Given the description of an element on the screen output the (x, y) to click on. 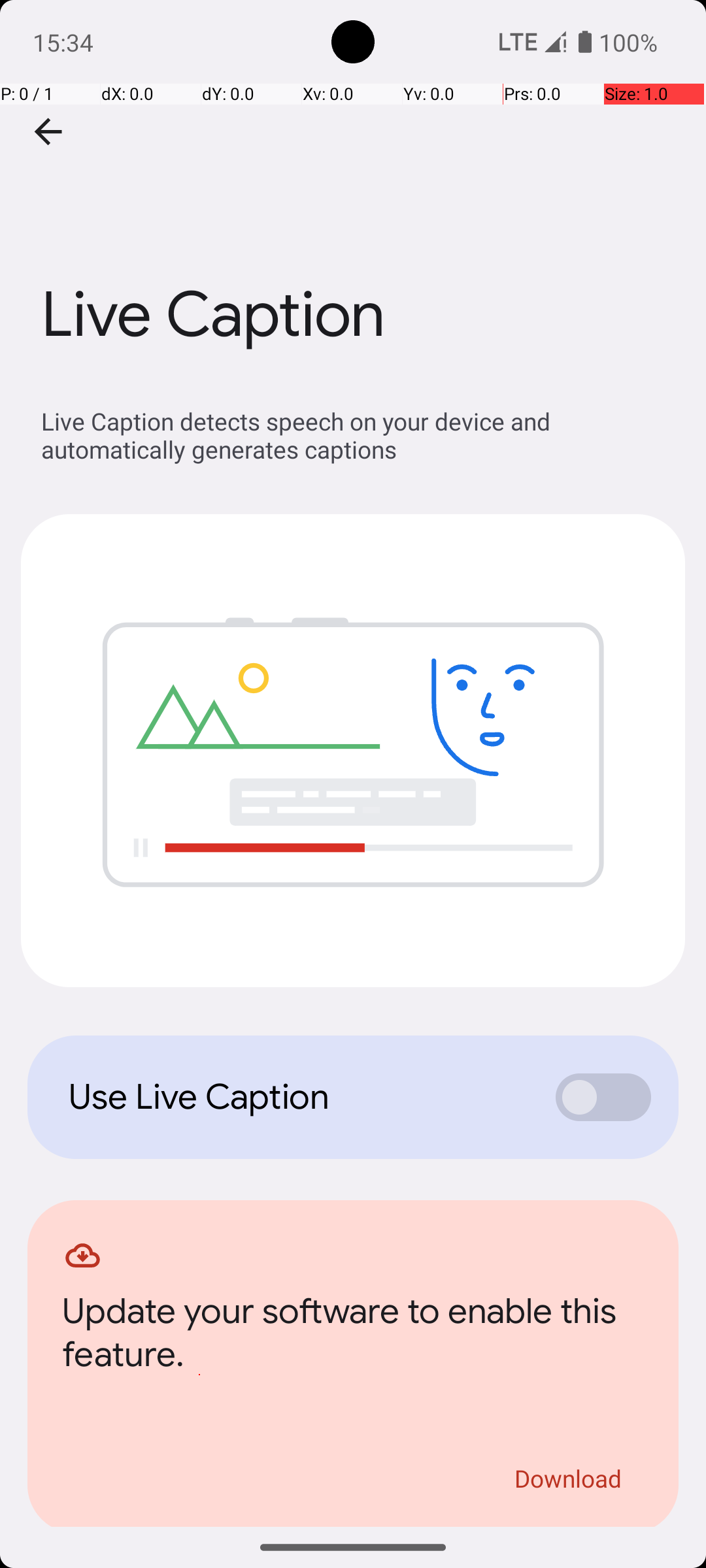
Live Caption detects speech on your device and automatically generates captions Element type: android.widget.TextView (359, 434)
Use Live Caption Element type: android.widget.TextView (298, 1096)
Update your software to enable this feature. Element type: android.widget.TextView (352, 1336)
